Given the description of an element on the screen output the (x, y) to click on. 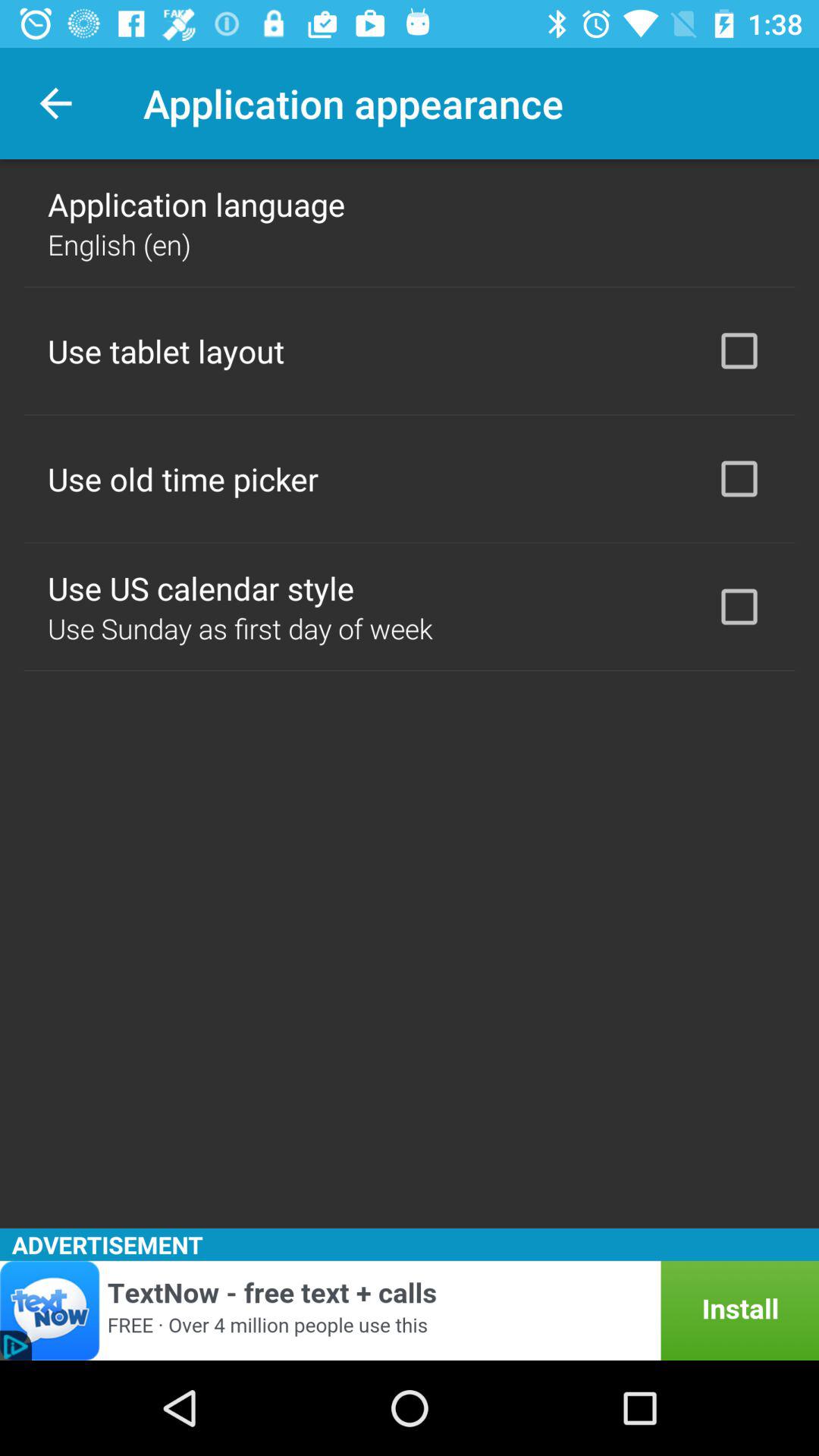
turn on item next to the use us calendar icon (739, 606)
